Given the description of an element on the screen output the (x, y) to click on. 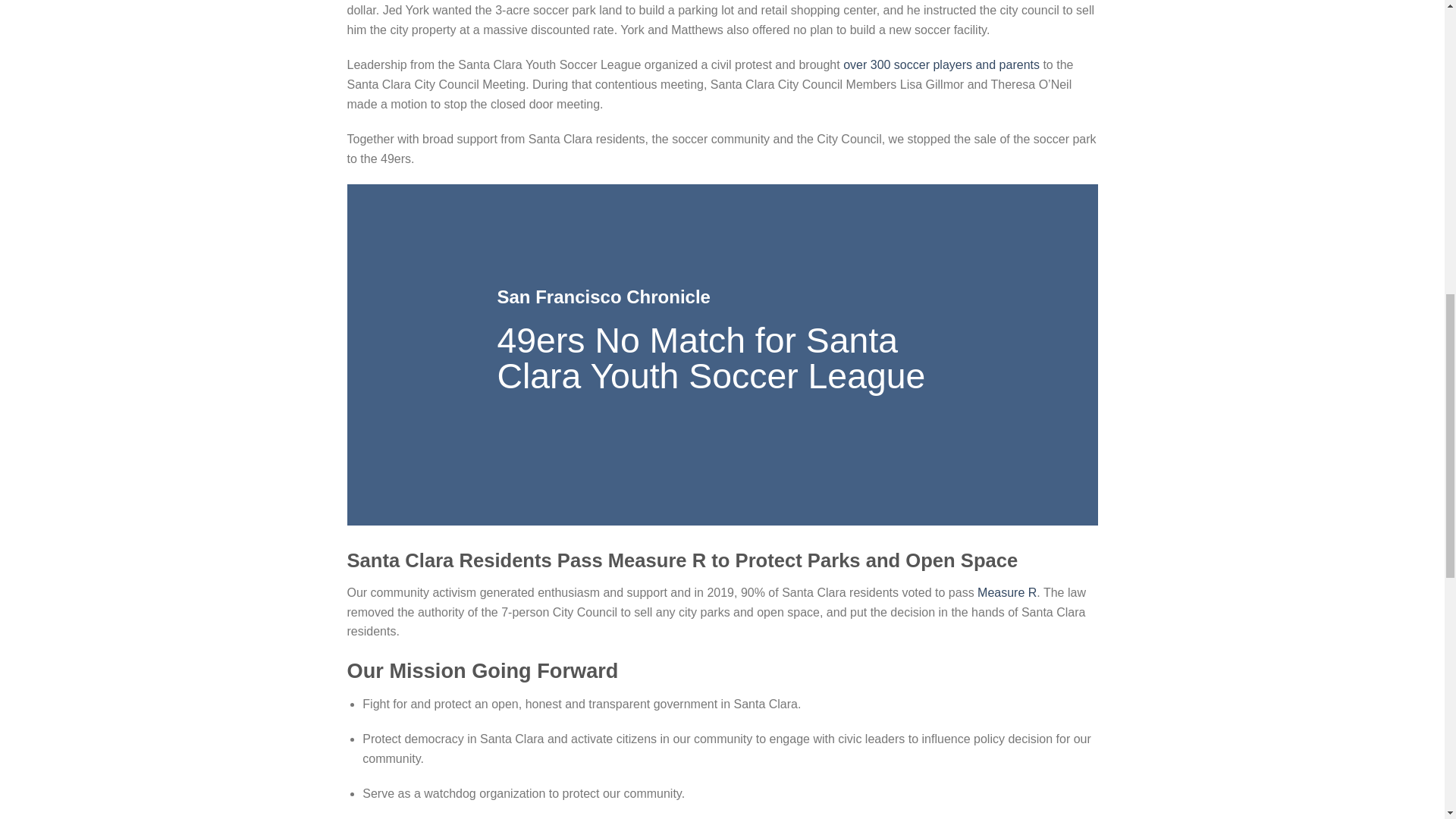
Measure R (1006, 592)
over 300 soccer players and parents (942, 64)
